Given the description of an element on the screen output the (x, y) to click on. 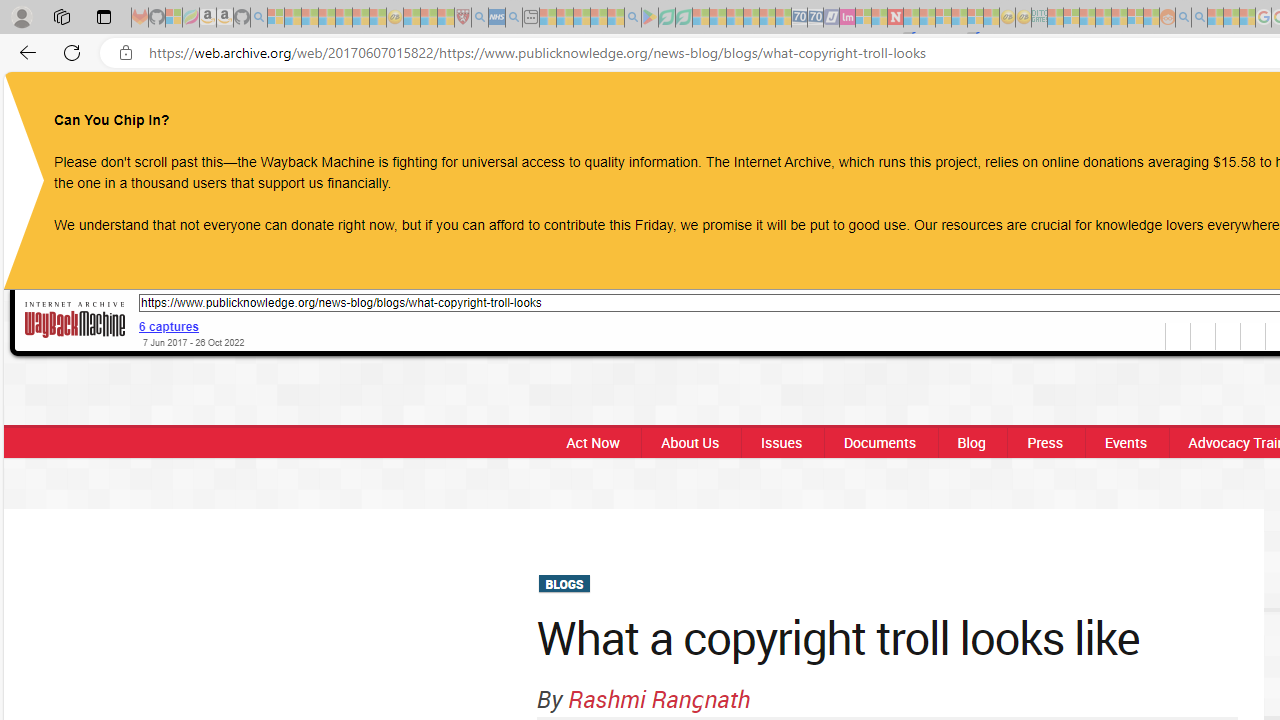
Documents (879, 442)
Wayback Machine (75, 321)
Rashmi Rangnath (659, 698)
Wayback Machine (75, 319)
About Us (689, 442)
Events (1126, 442)
Issues (780, 442)
TWITTER (1218, 108)
